Given the description of an element on the screen output the (x, y) to click on. 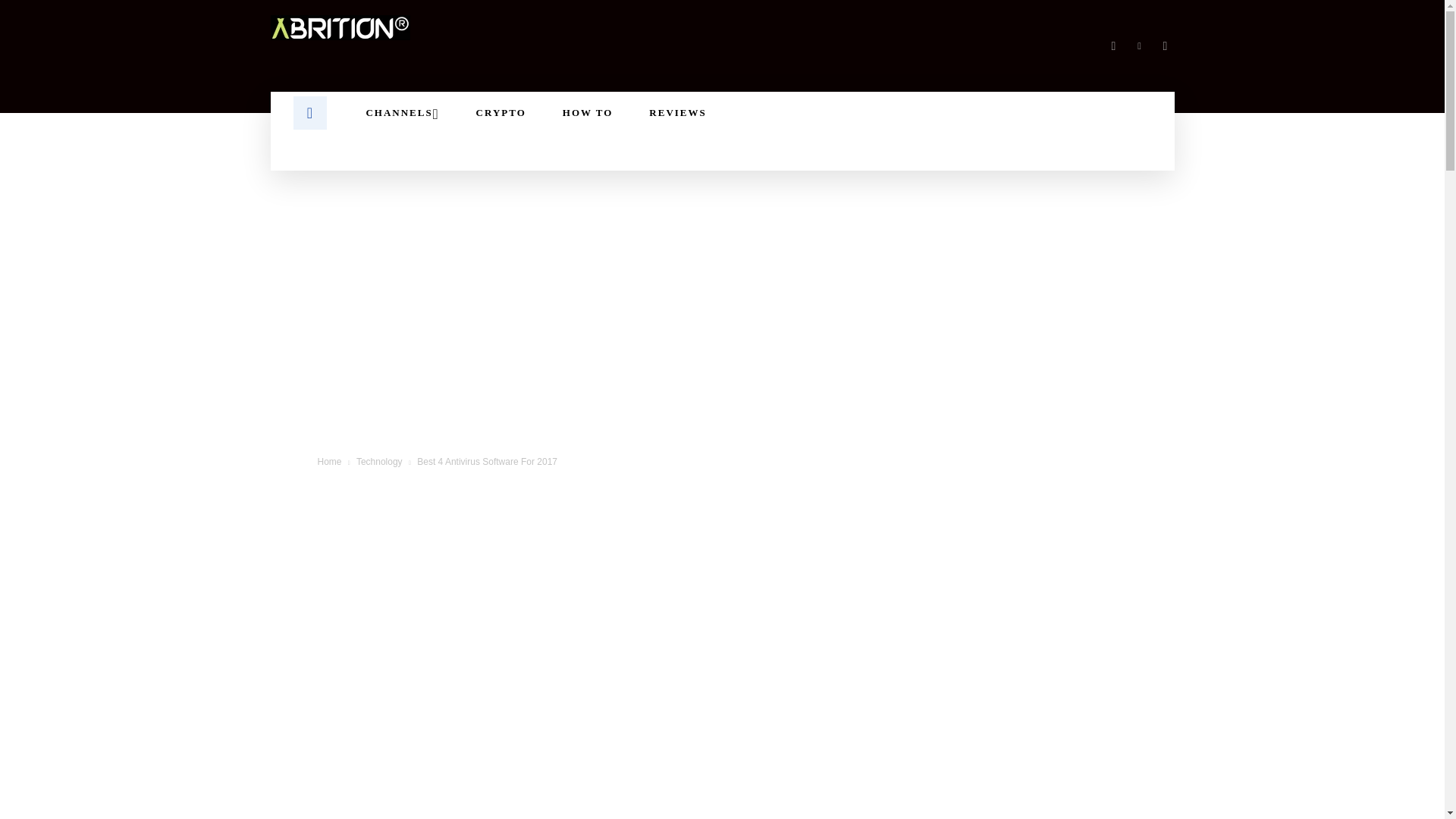
Pinterest (1138, 45)
View all posts in Technology (379, 461)
Facebook (1112, 45)
Twitter (1164, 45)
